Given the description of an element on the screen output the (x, y) to click on. 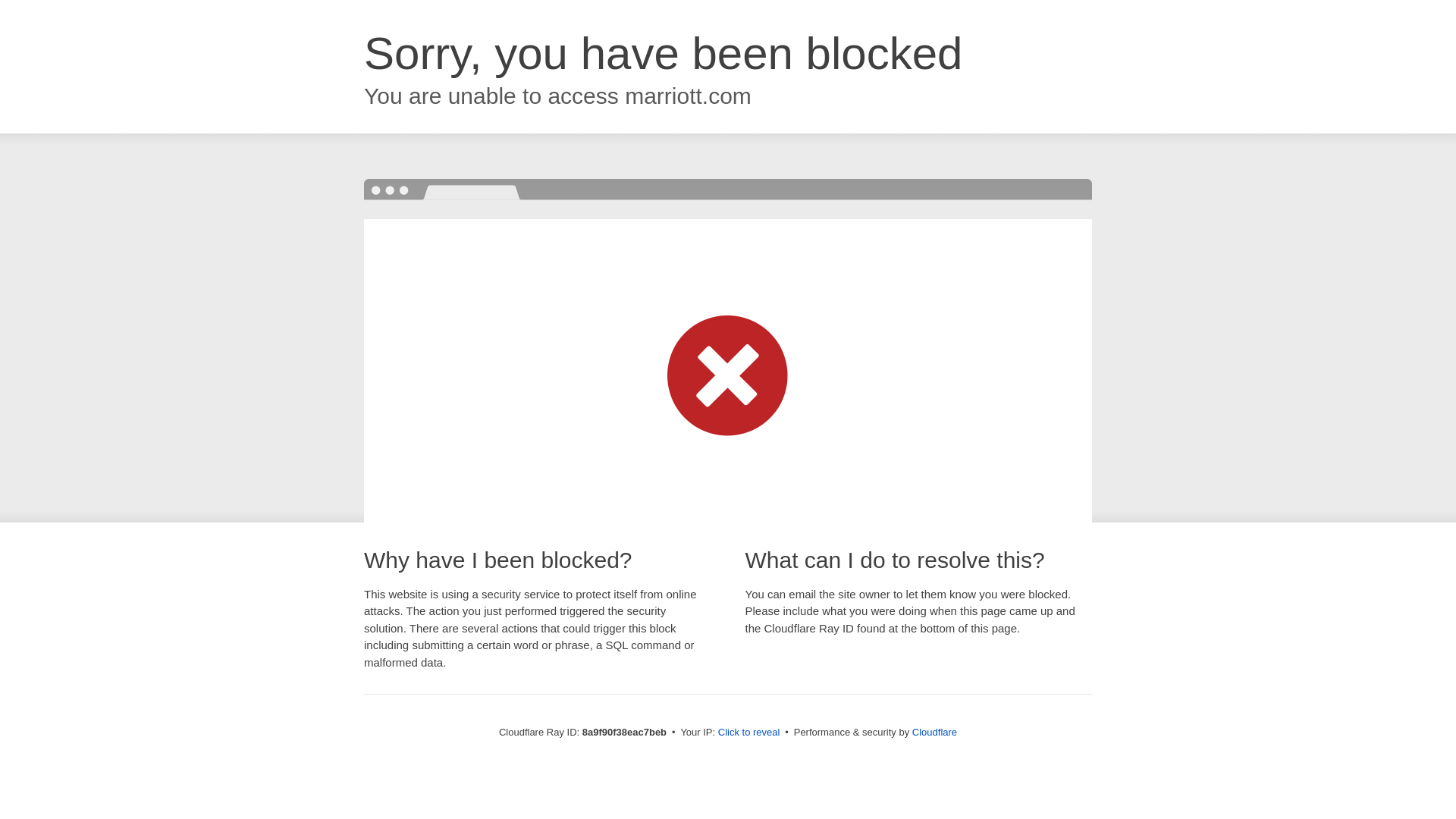
Cloudflare (934, 731)
Click to reveal (748, 732)
